Given the description of an element on the screen output the (x, y) to click on. 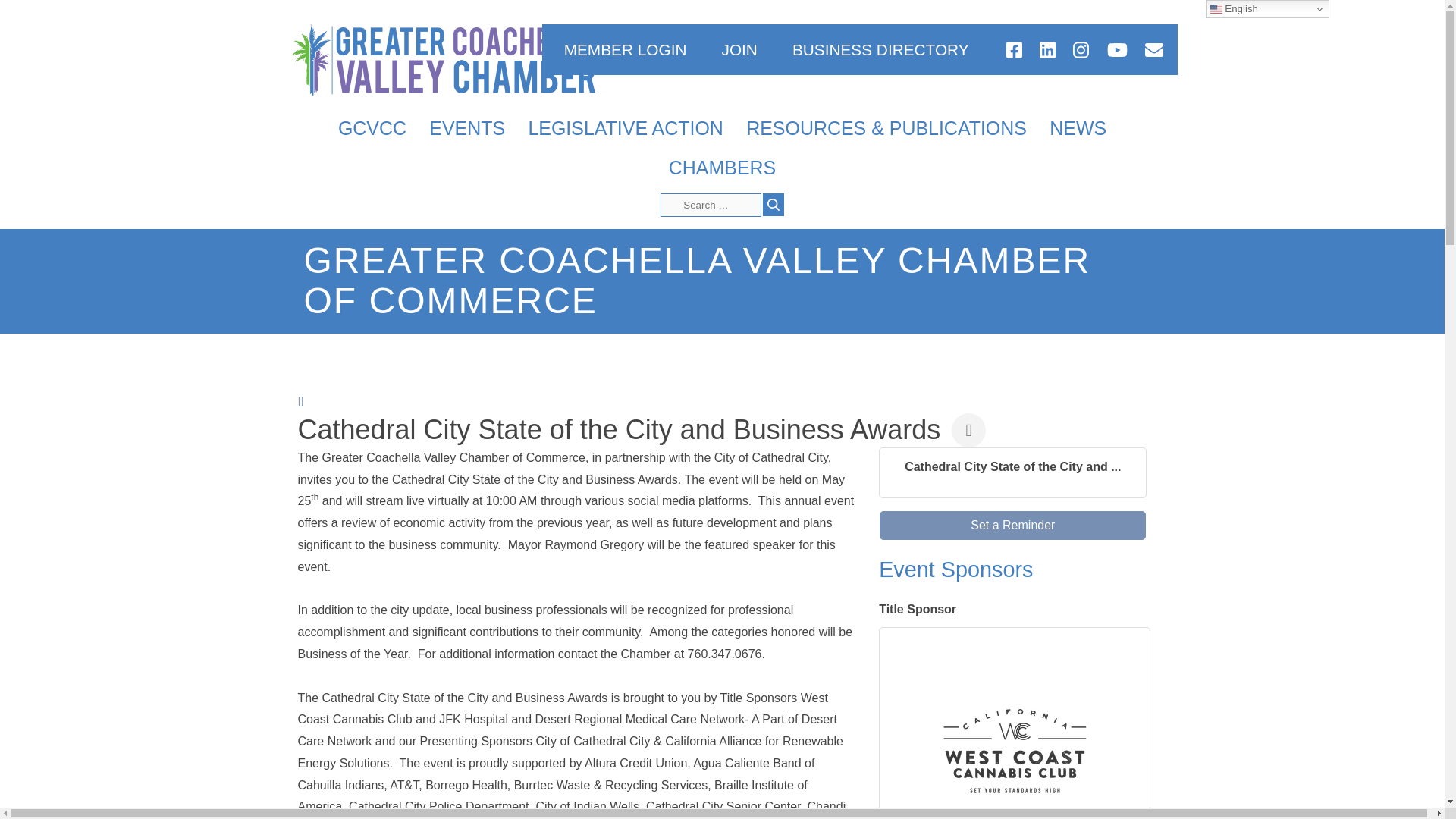
Search (773, 204)
Search (773, 204)
Greater Coachella Valley Chamber of Commerce (442, 60)
